Given the description of an element on the screen output the (x, y) to click on. 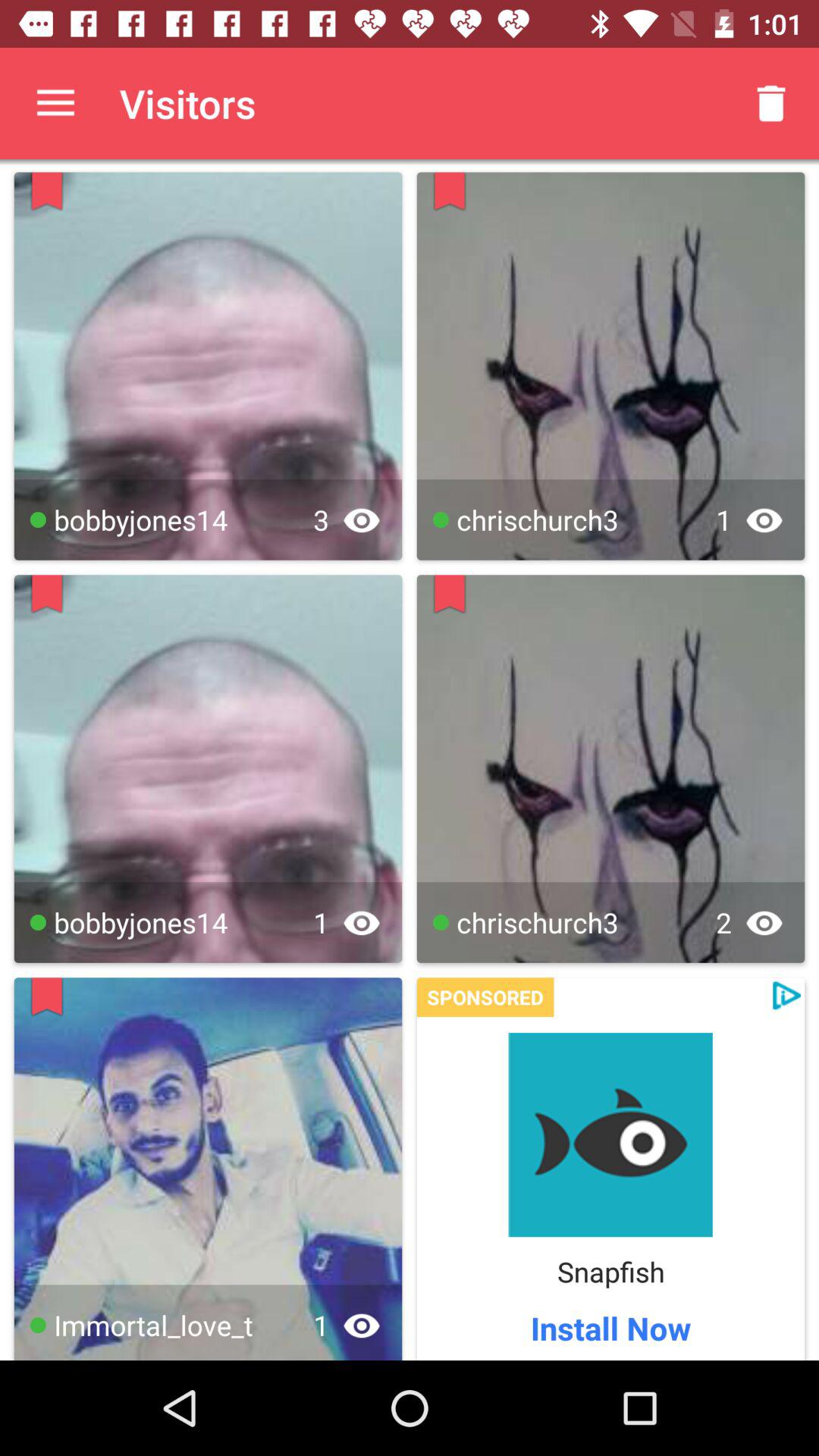
scroll until the install now app (610, 1327)
